Given the description of an element on the screen output the (x, y) to click on. 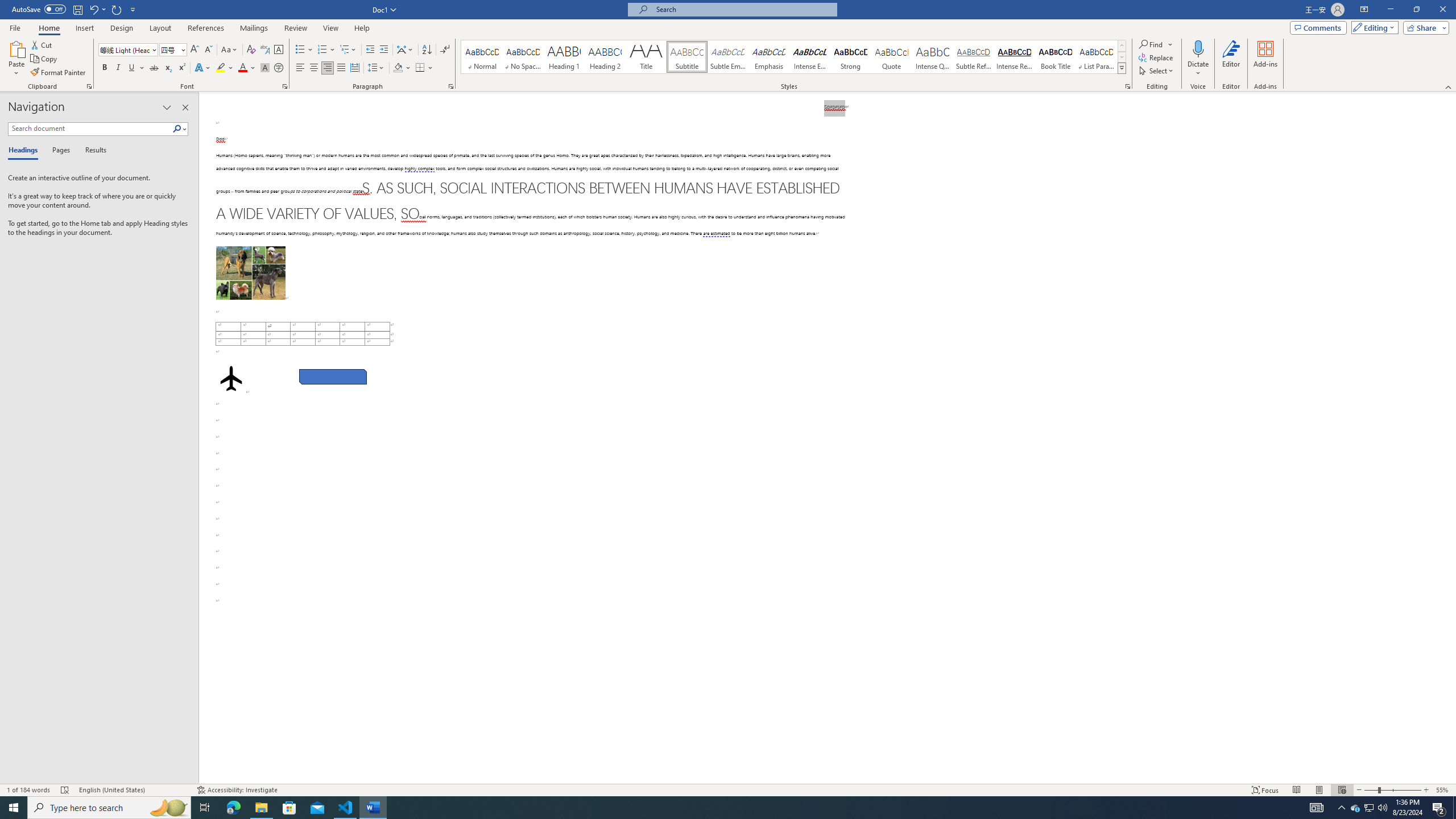
Title (646, 56)
Paste (16, 48)
Pages (59, 150)
Rectangle: Diagonal Corners Snipped 2 (332, 376)
AutomationID: QuickStylesGallery (794, 56)
Editor (1231, 58)
Heading 2 (605, 56)
Intense Emphasis (809, 56)
Ribbon Display Options (1364, 9)
Font... (285, 85)
Italic (118, 67)
Font Size (169, 49)
Styles... (1127, 85)
Print Layout (1318, 790)
